Given the description of an element on the screen output the (x, y) to click on. 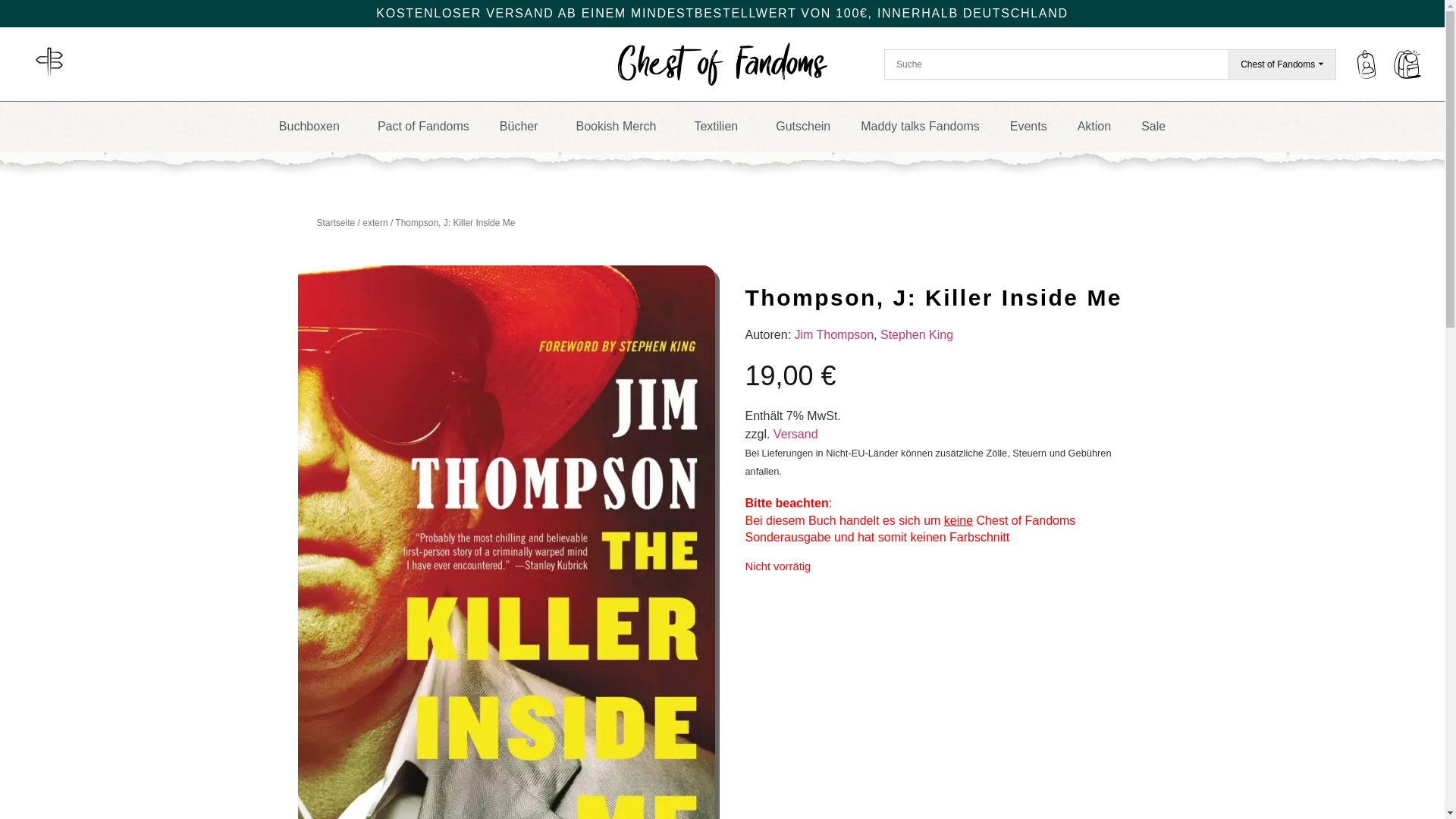
Sale (1152, 126)
Bookish Merch (619, 126)
Pact of Fandoms (423, 126)
Textilien (719, 126)
Events (1028, 126)
Aktion (1093, 126)
Gutschein (802, 126)
Buchboxen (312, 126)
Maddy talks Fandoms (919, 126)
